Given the description of an element on the screen output the (x, y) to click on. 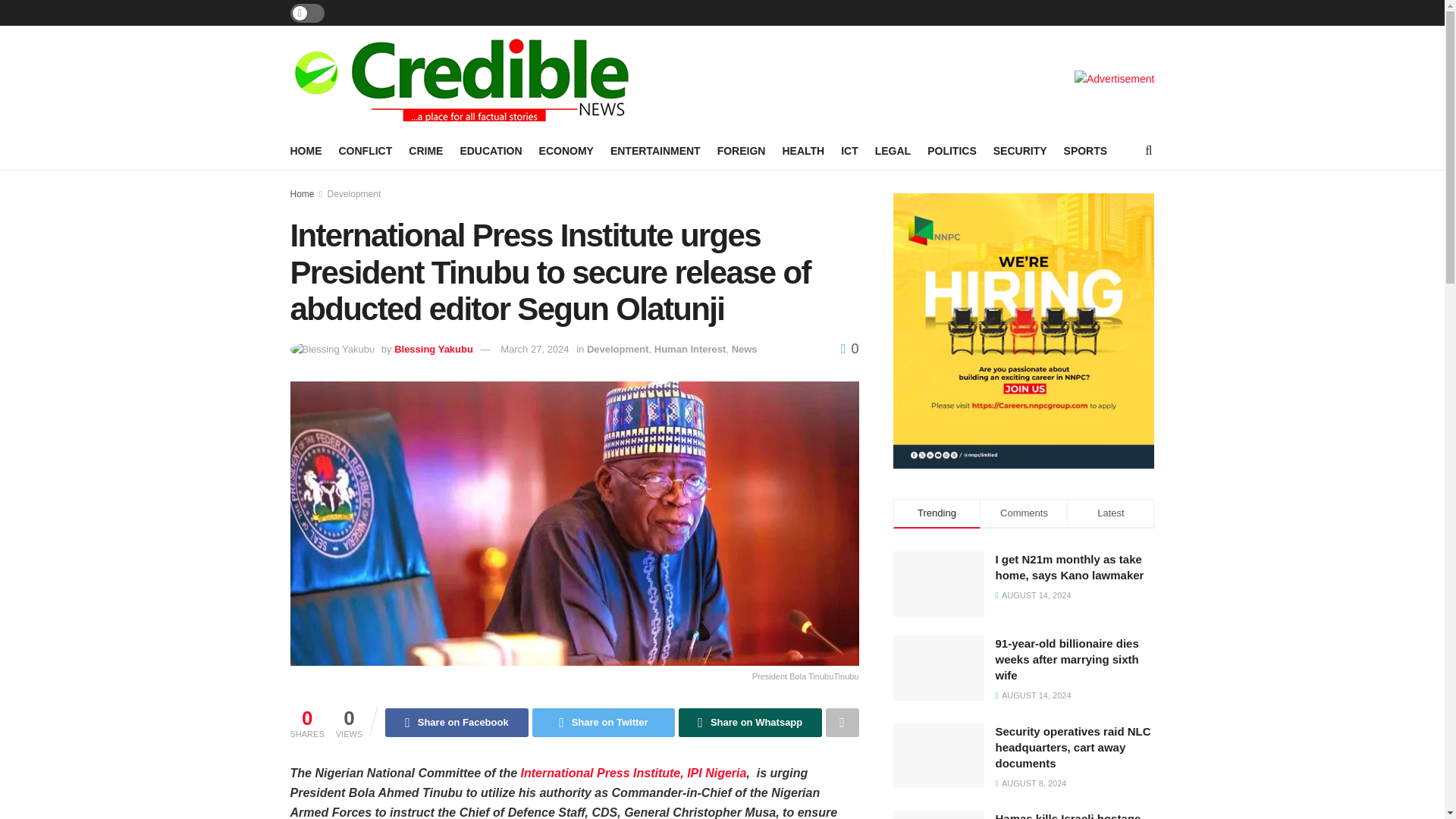
FOREIGN (741, 150)
HOME (305, 150)
POLITICS (951, 150)
CRIME (425, 150)
CONFLICT (364, 150)
EDUCATION (490, 150)
LEGAL (893, 150)
SPORTS (1086, 150)
Development (354, 194)
ENTERTAINMENT (655, 150)
